Given the description of an element on the screen output the (x, y) to click on. 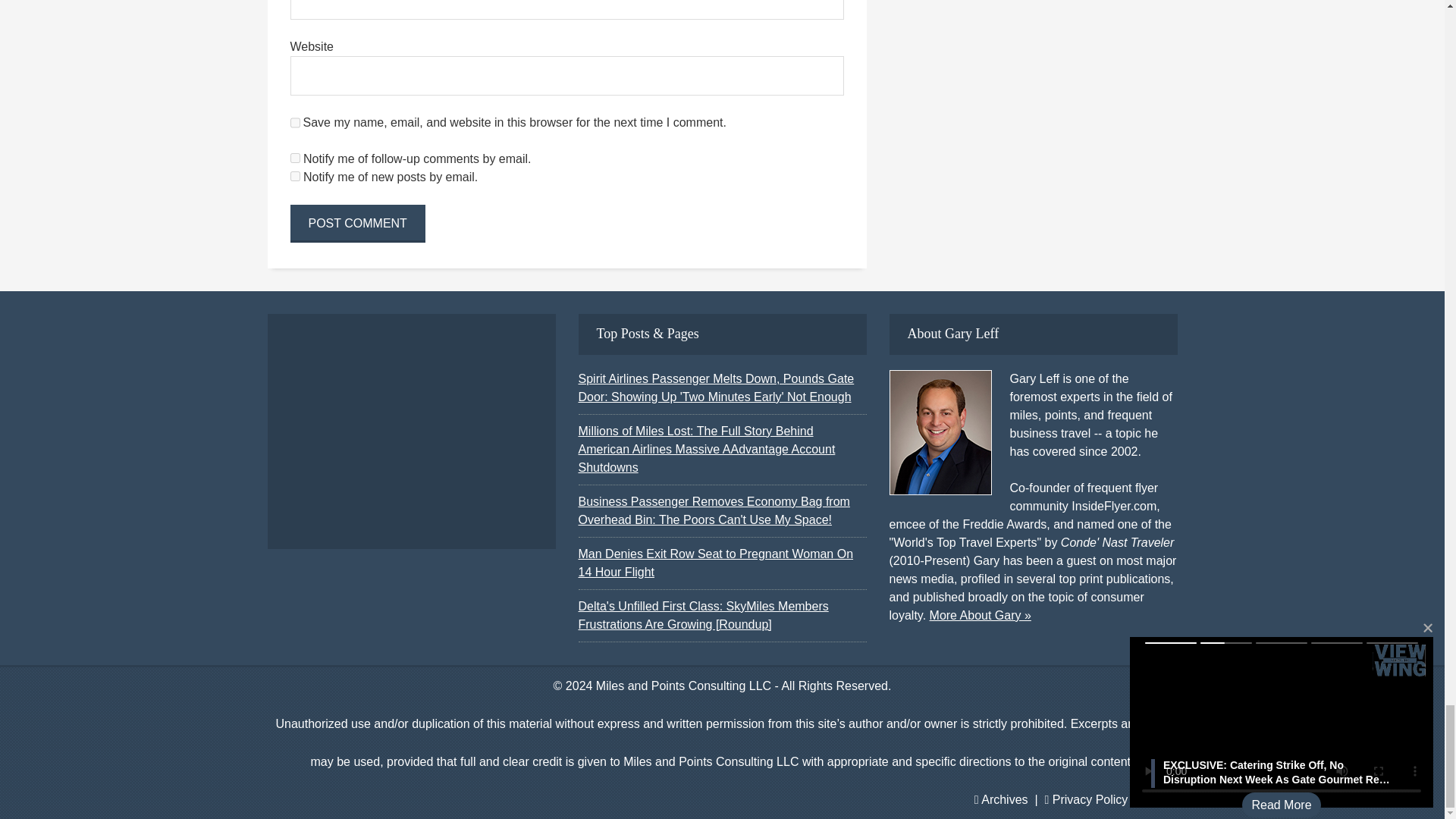
subscribe (294, 157)
Post Comment (357, 223)
subscribe (294, 175)
